Given the description of an element on the screen output the (x, y) to click on. 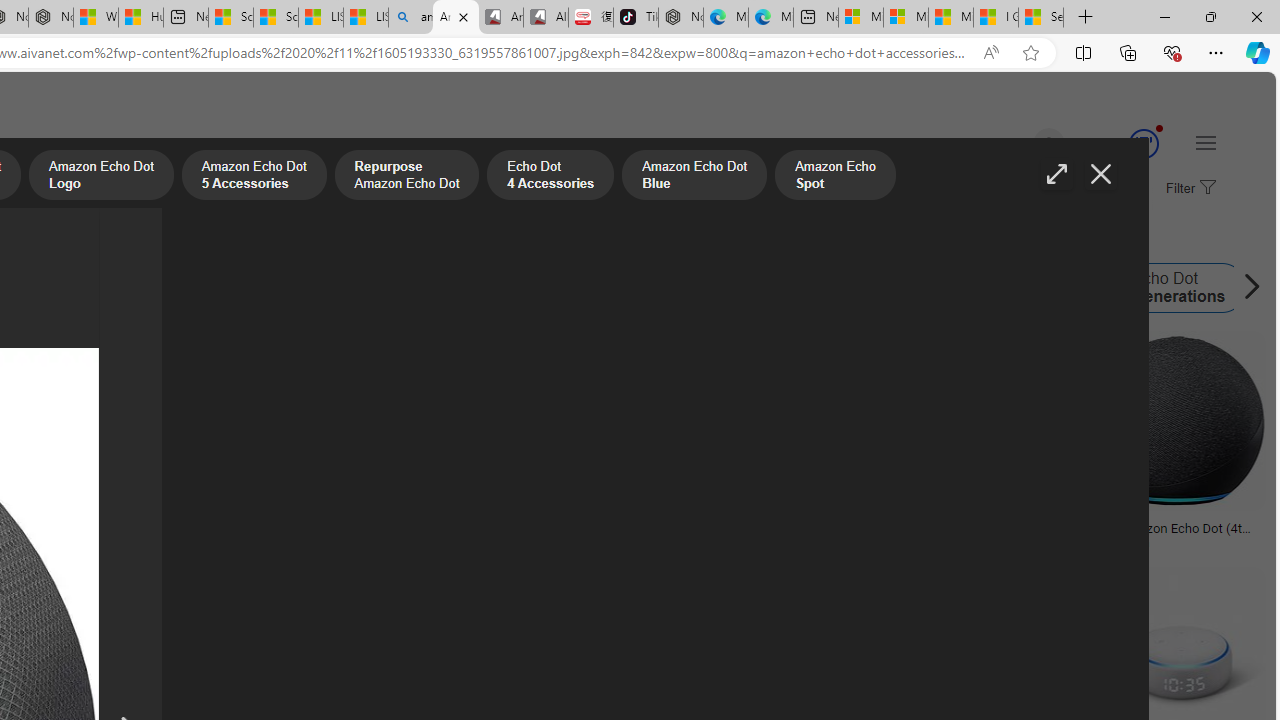
pixabay.com (776, 542)
croma.com (1176, 542)
Eugene (1019, 143)
croma.com (1128, 541)
pnghq.com (96, 542)
Repurpose Amazon Echo Dot (406, 177)
Amazon Echo Dot Blue (693, 177)
Microsoft Rewards 147 (1119, 143)
